Given the description of an element on the screen output the (x, y) to click on. 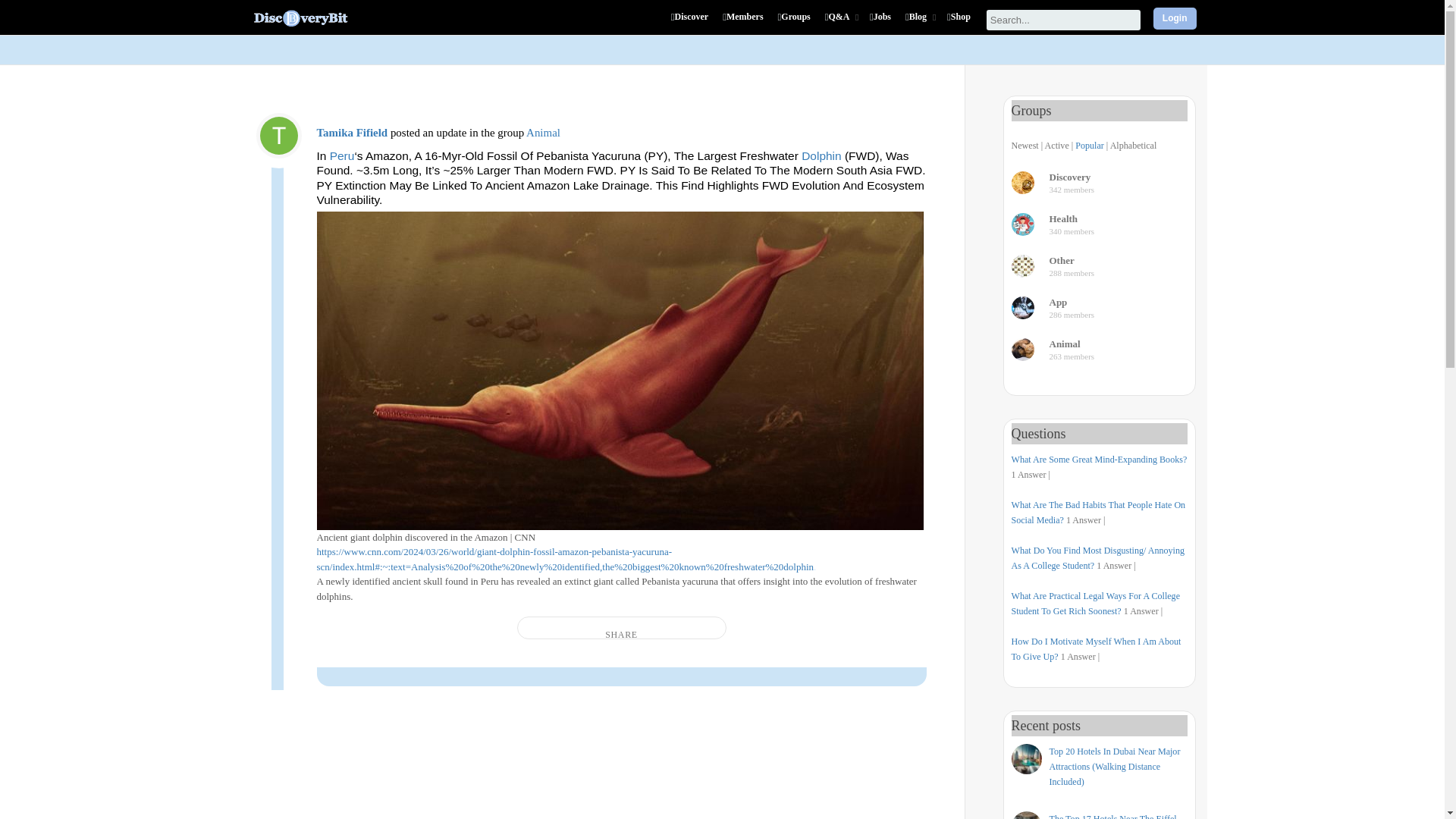
Members (744, 26)
Groups (795, 26)
Groups (795, 26)
Newest (1025, 145)
Alphabetical (1133, 145)
Jobs (882, 26)
Active (1056, 145)
Blog (920, 26)
Members (744, 26)
Shop (960, 26)
Discover (691, 26)
Discover (691, 26)
Peru (342, 154)
Animal (542, 132)
Blog (920, 26)
